Given the description of an element on the screen output the (x, y) to click on. 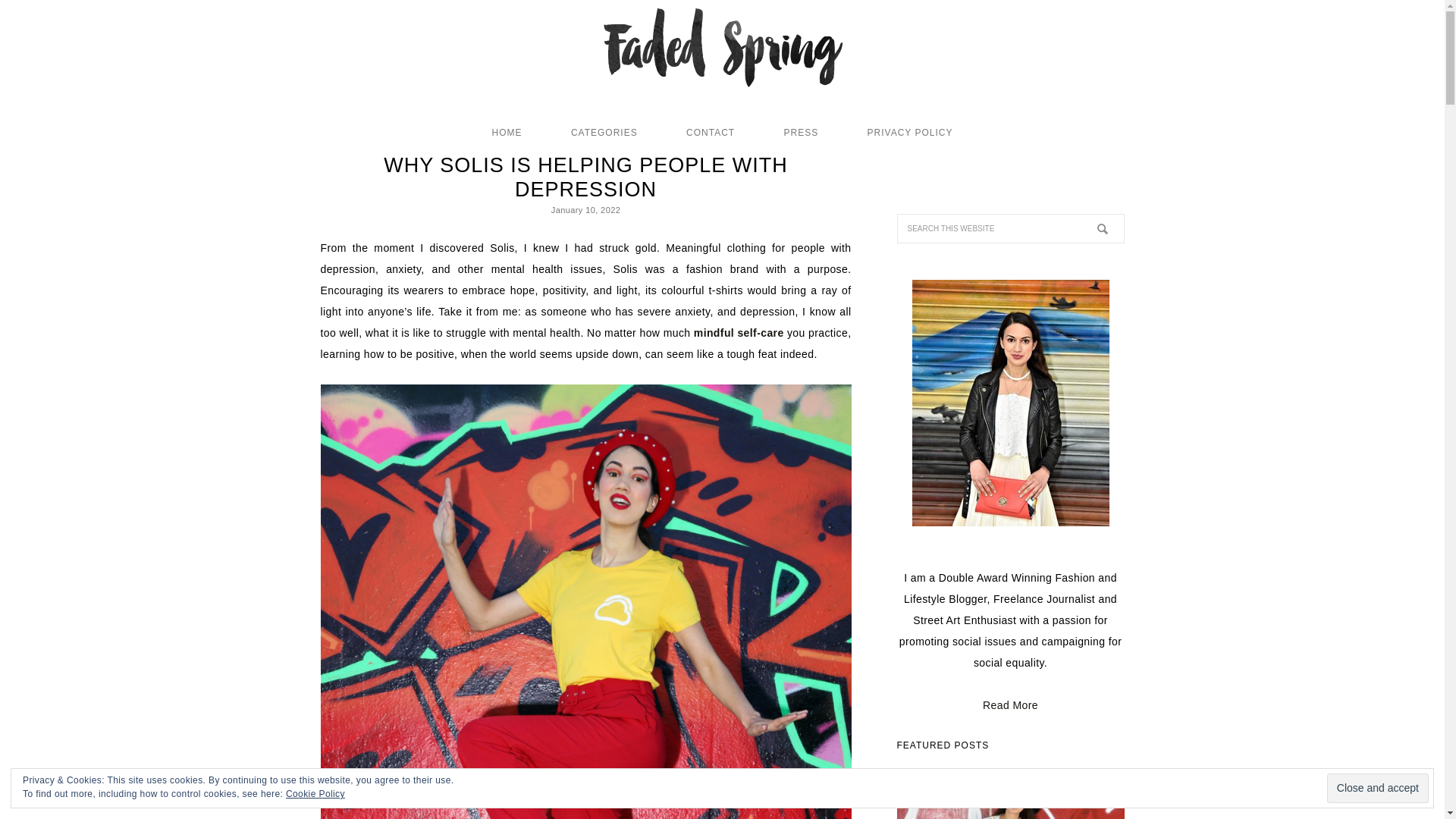
Close and accept (1377, 788)
PRESS (800, 132)
PRIVACY POLICY (909, 132)
CATEGORIES (604, 132)
Read More (1010, 705)
HOME (506, 132)
CONTACT (710, 132)
